Given the description of an element on the screen output the (x, y) to click on. 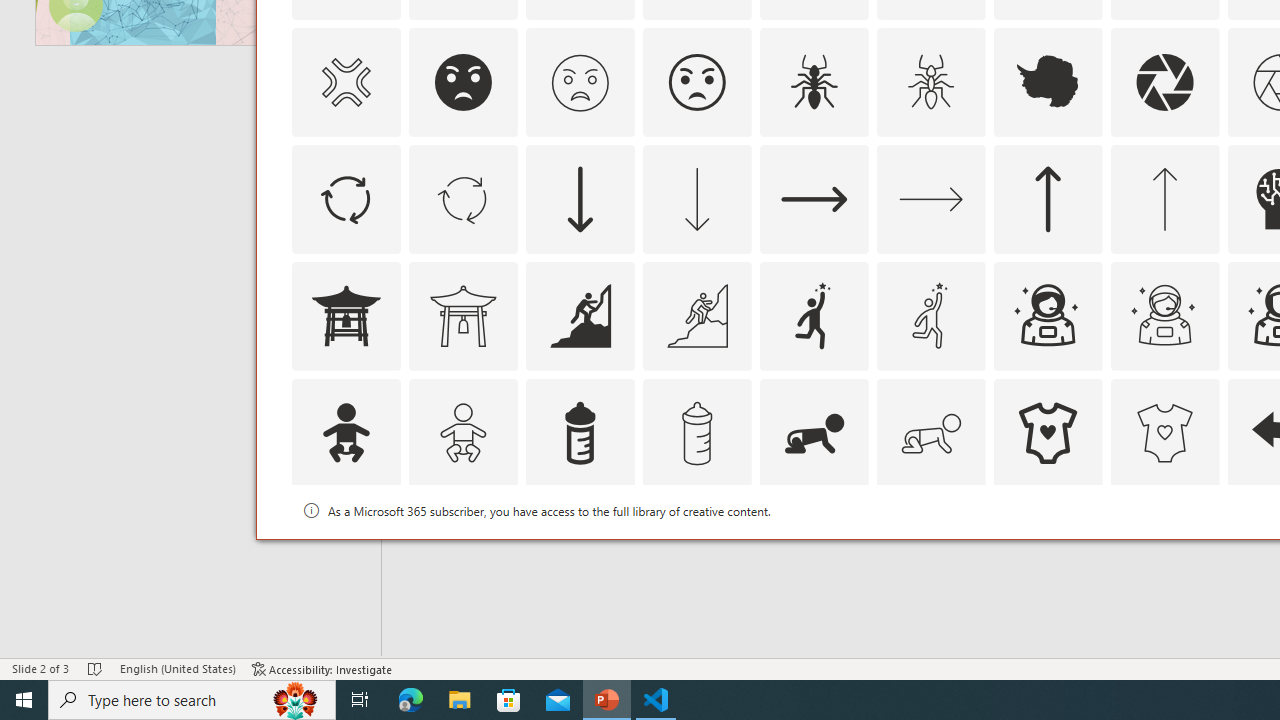
AutomationID: Icons_ArrowUp_M (1164, 198)
AutomationID: Icons (1048, 550)
AutomationID: Icons_ArrowCircle_M (463, 198)
AutomationID: Icons_AstronautFemale (1048, 316)
AutomationID: Icons_Aspiration_M (696, 316)
AutomationID: Icons_ArrowCircle (345, 198)
AutomationID: Icons_Ant_M (930, 82)
